Given the description of an element on the screen output the (x, y) to click on. 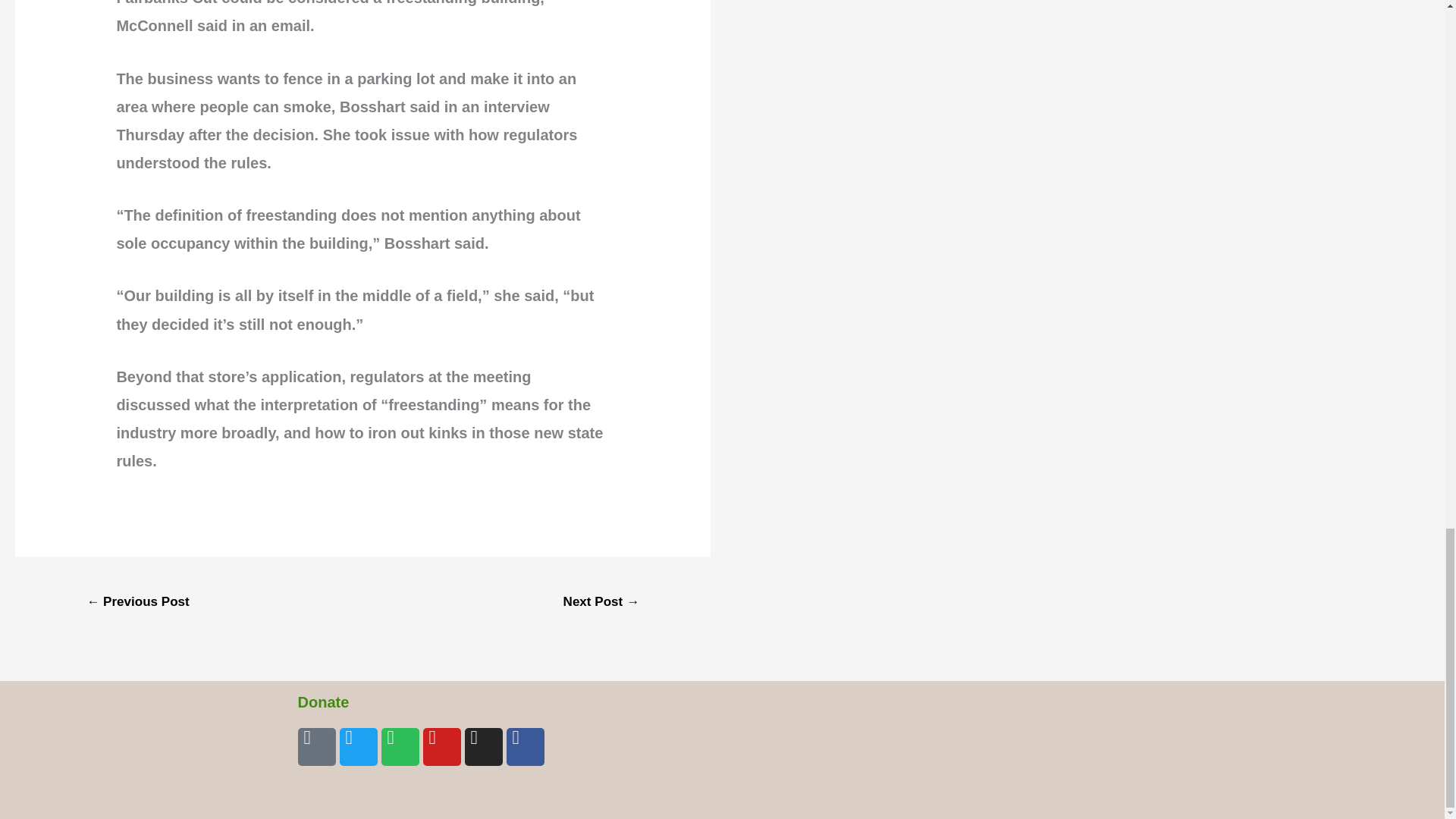
Donate (323, 701)
